Given the description of an element on the screen output the (x, y) to click on. 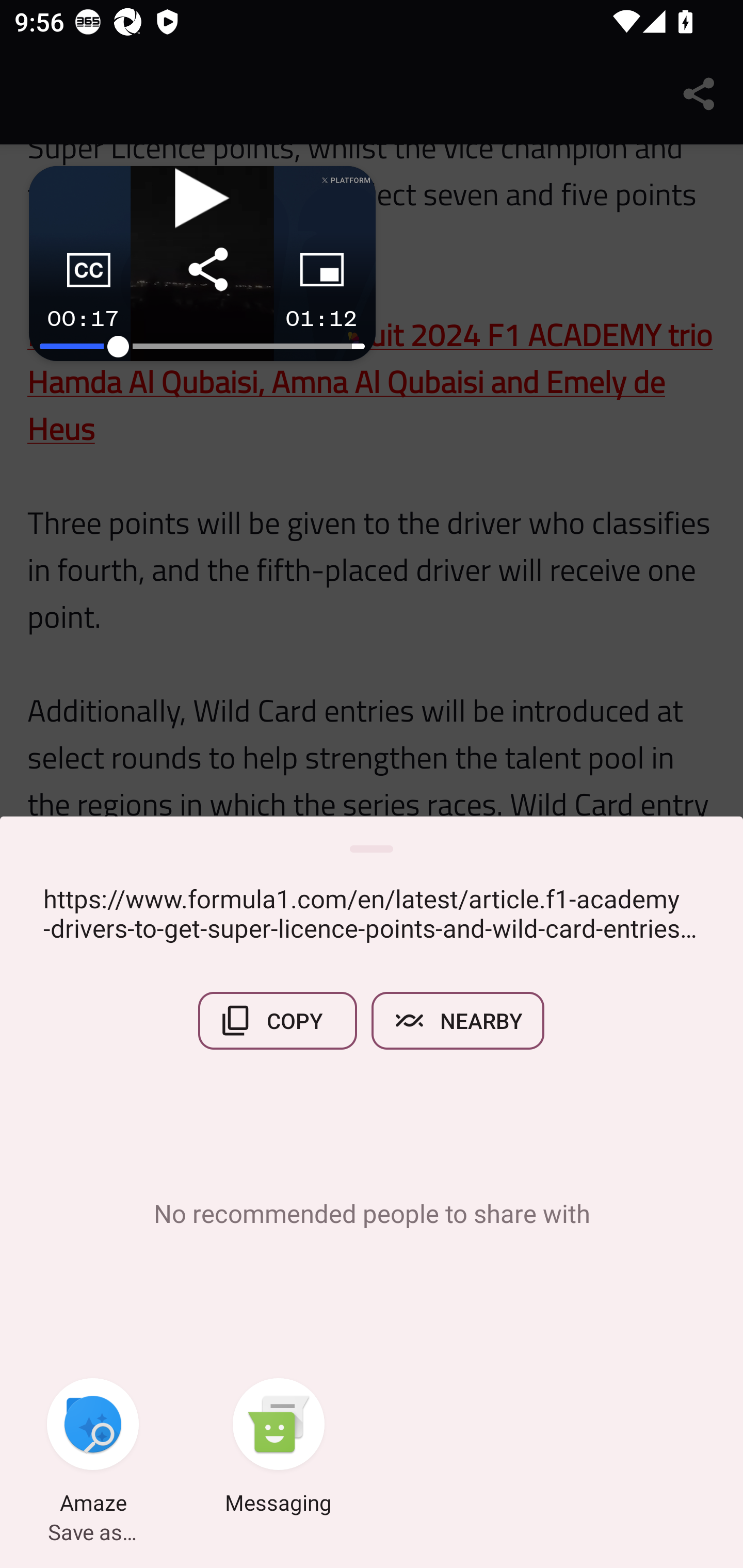
COPY (277, 1020)
NEARBY (457, 1020)
Amaze Save as… (92, 1448)
Messaging (278, 1448)
